Given the description of an element on the screen output the (x, y) to click on. 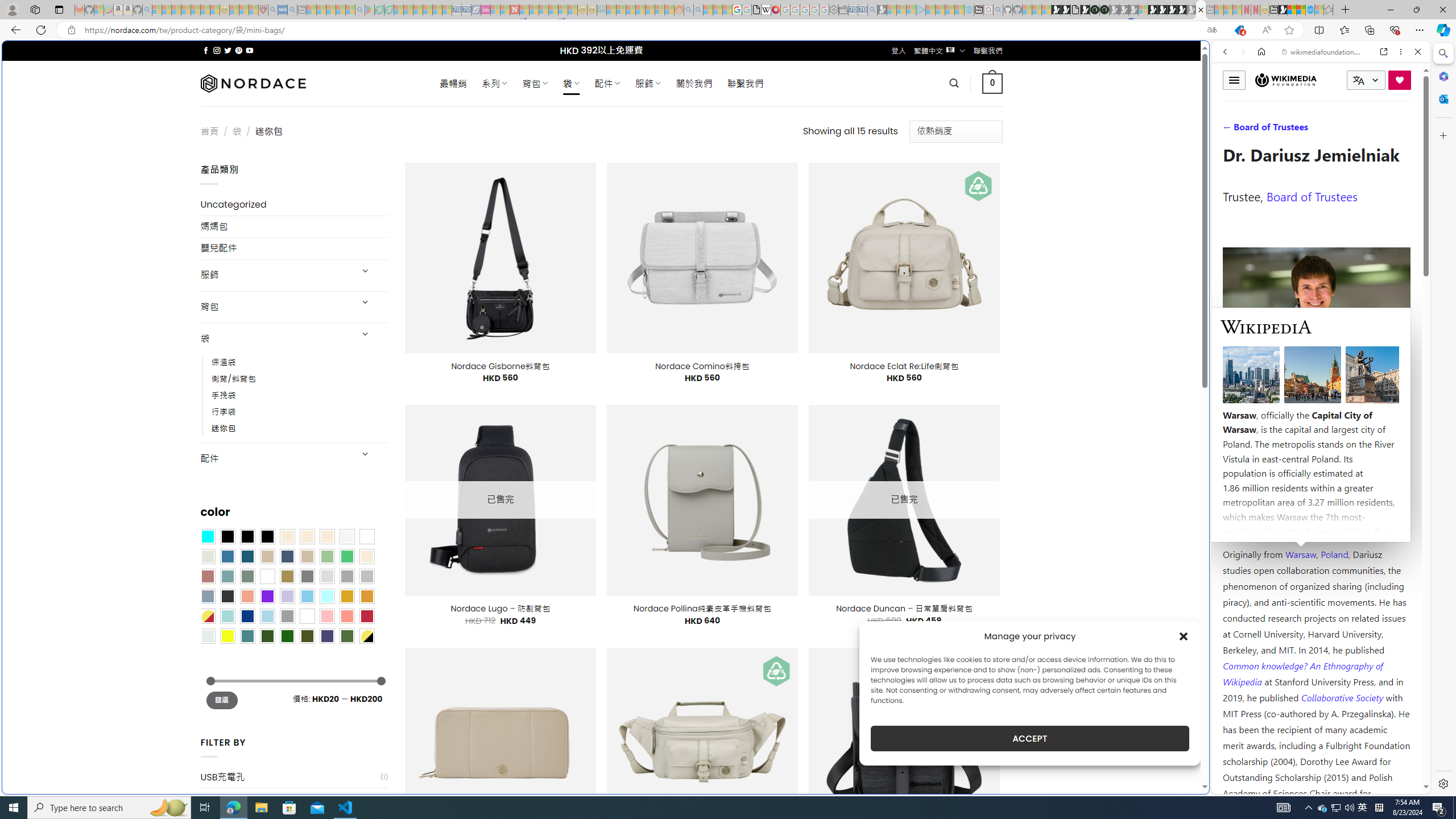
Play Zoo Boom in your browser | Games from Microsoft Start (1065, 9)
Nordace (252, 83)
Microsoft account | Privacy - Sleeping (910, 9)
Wikimedia Foundation (1286, 79)
